Given the description of an element on the screen output the (x, y) to click on. 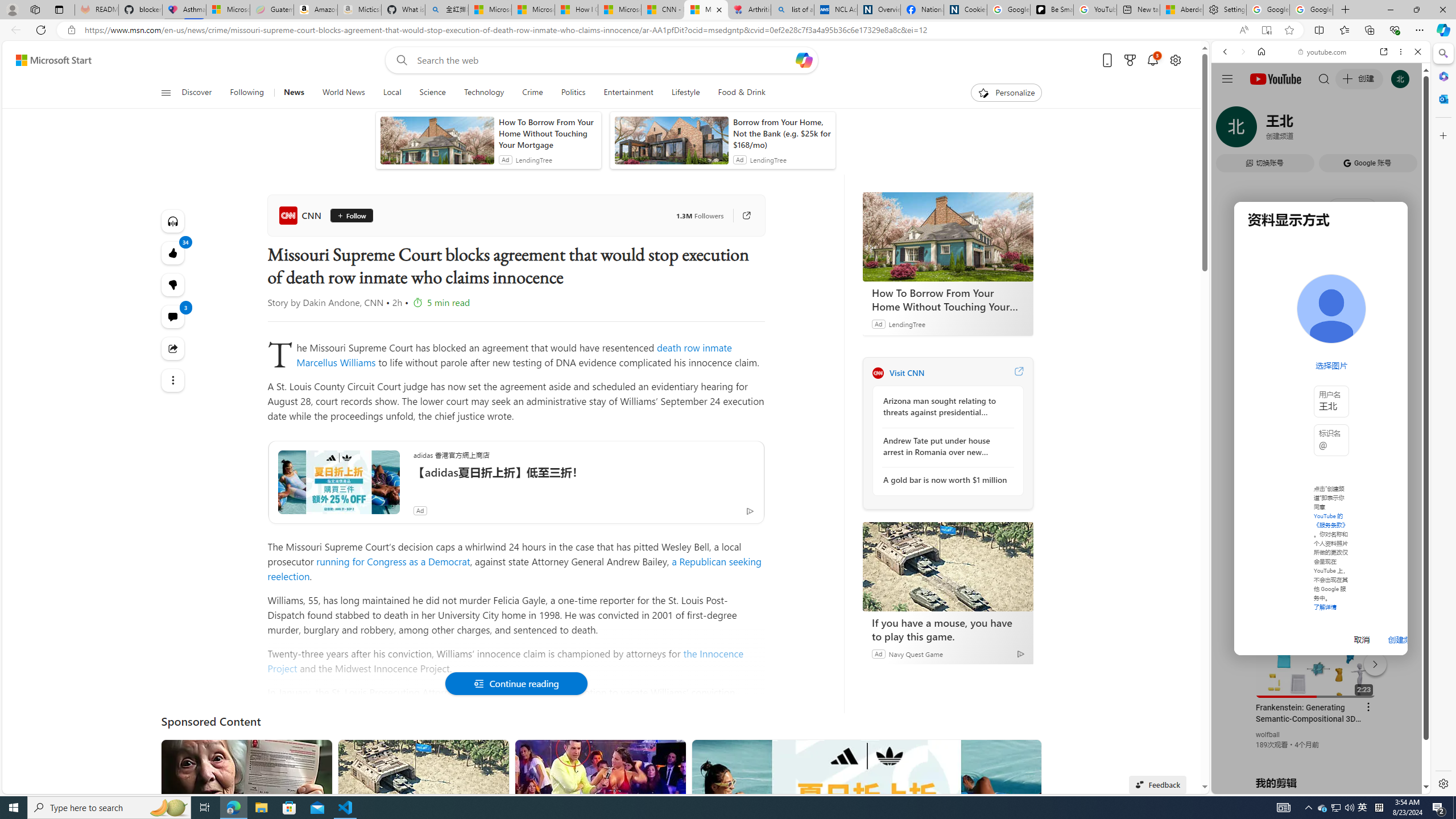
If you have a mouse, you have to play this game. (947, 566)
Trailer #2 [HD] (1320, 336)
YouTube - YouTube (1315, 560)
34 (172, 284)
